Given the description of an element on the screen output the (x, y) to click on. 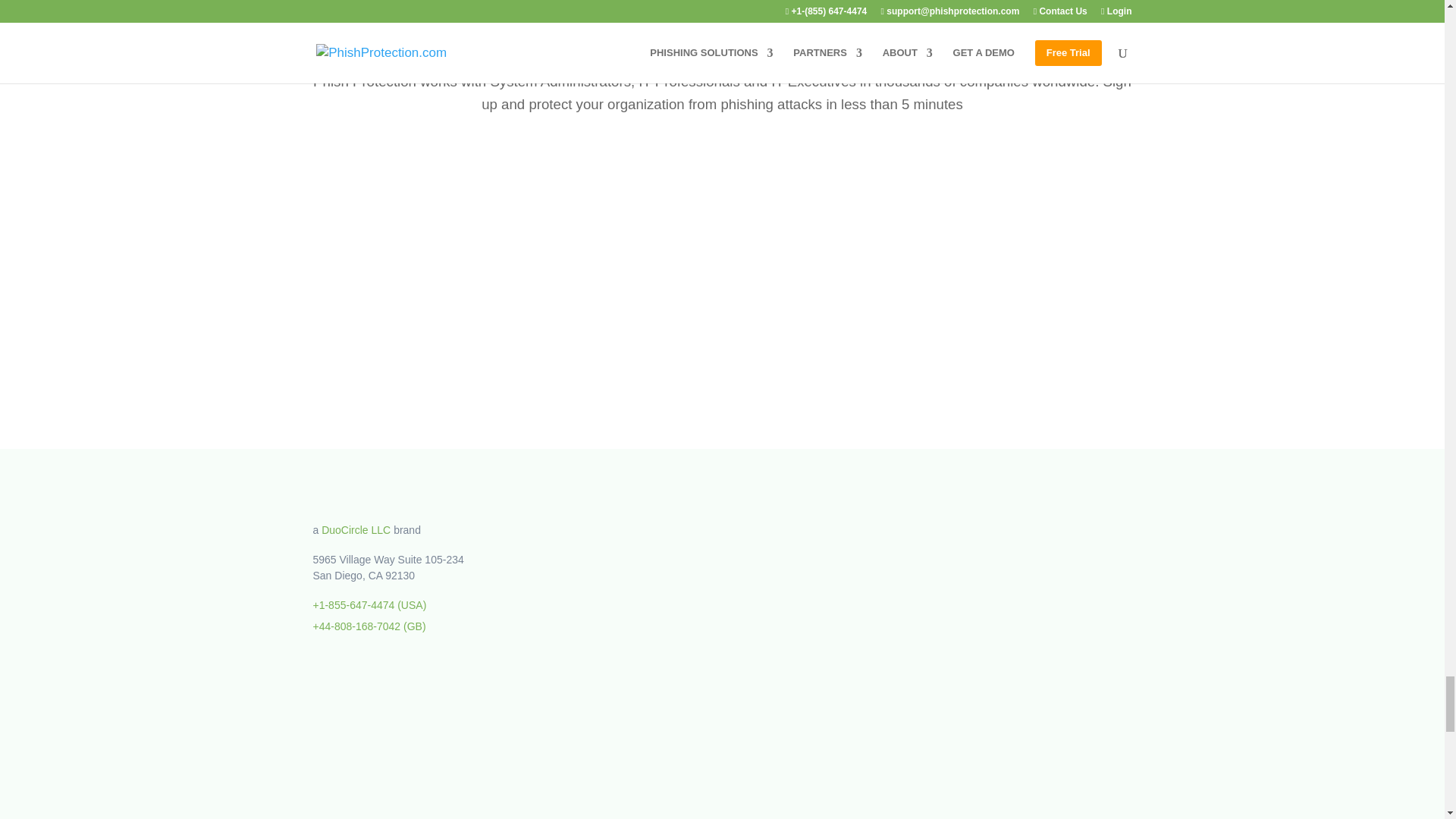
Read reviews of Phish Protection by DuoCircle on G2 (691, 558)
